Given the description of an element on the screen output the (x, y) to click on. 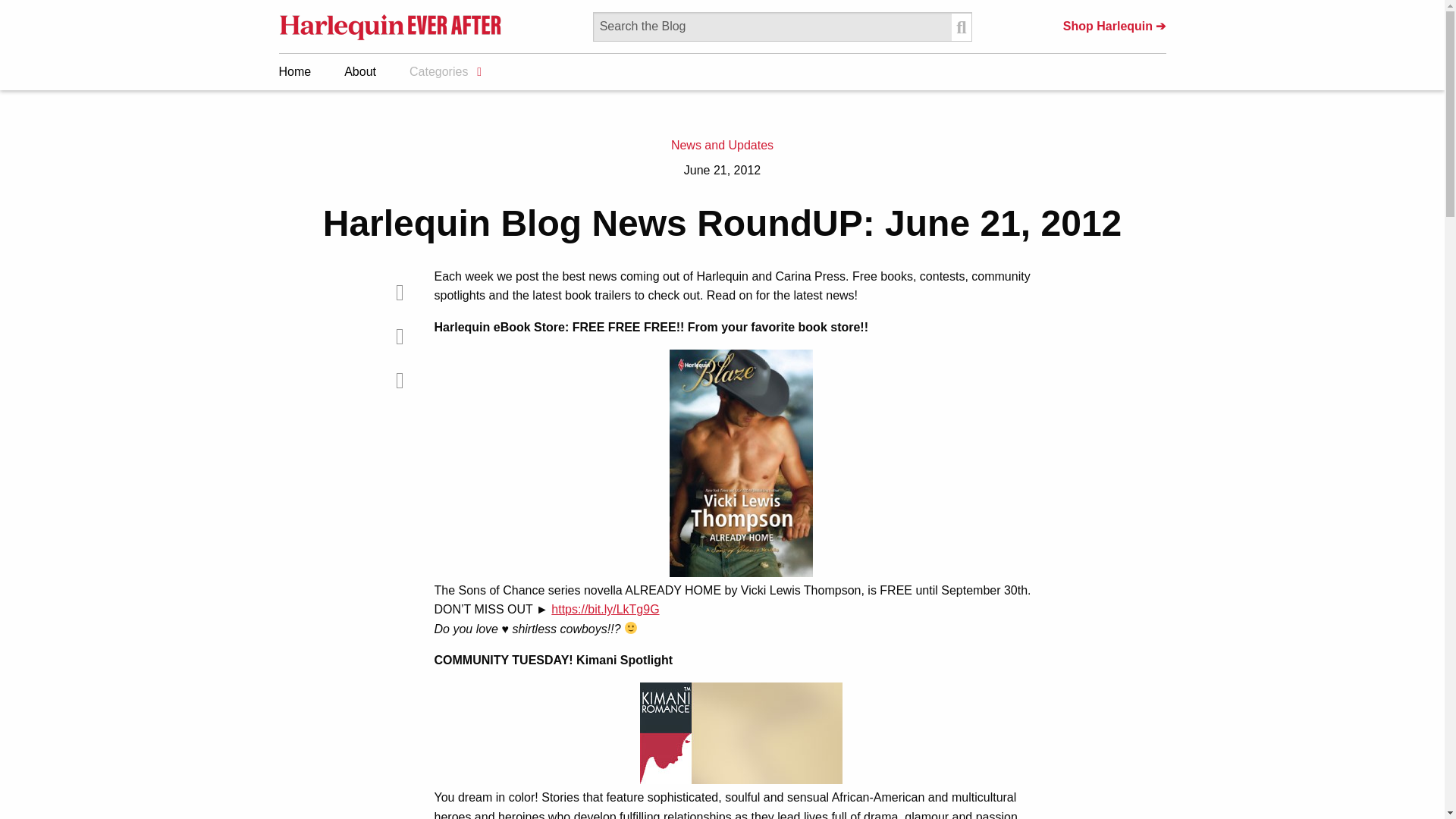
News and Updates (722, 144)
Home (298, 72)
About (356, 72)
Harlequin Ever After (390, 26)
Categories (441, 72)
